Given the description of an element on the screen output the (x, y) to click on. 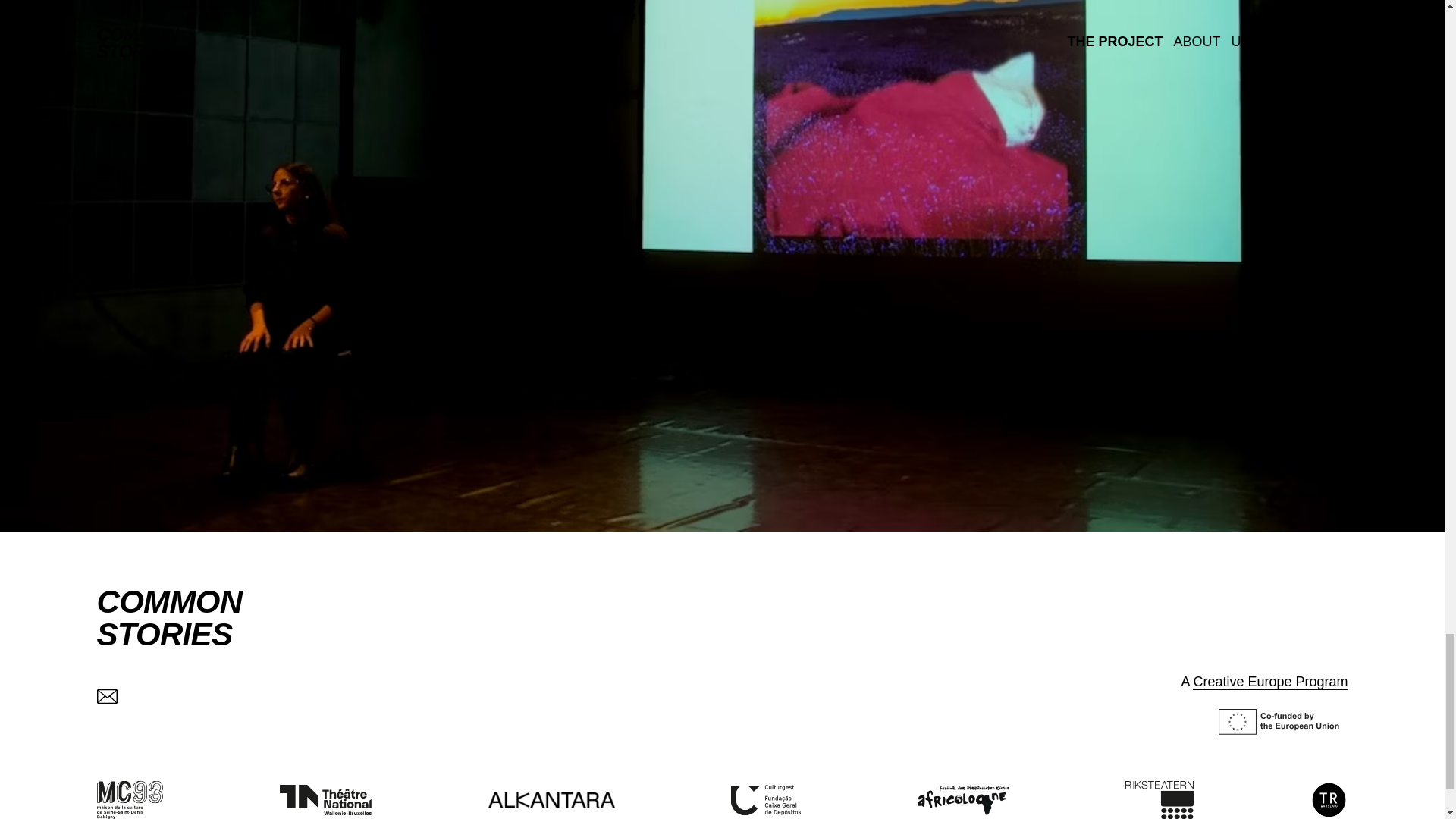
Creative Europe Program (170, 617)
